Given the description of an element on the screen output the (x, y) to click on. 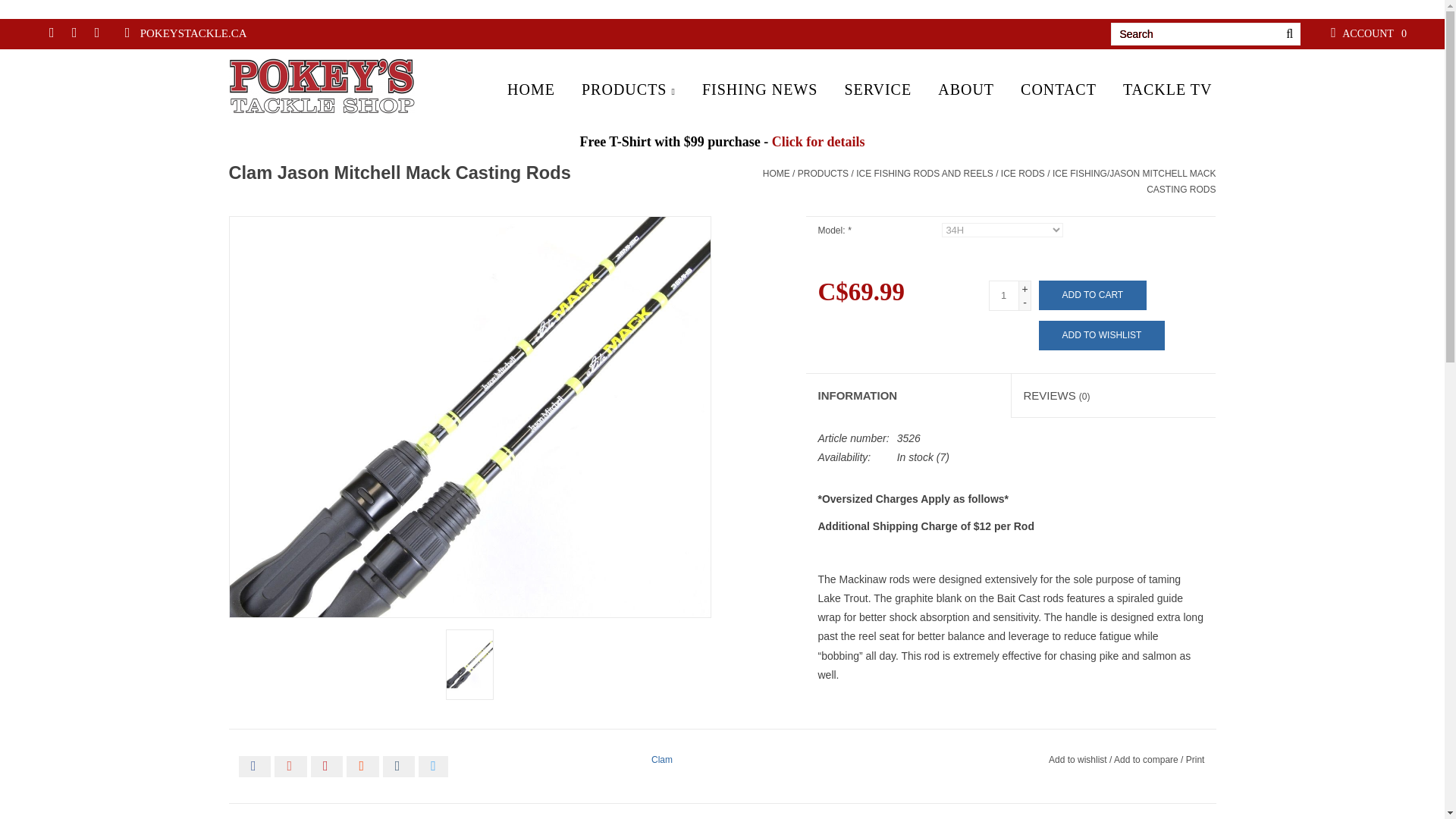
PRODUCTS (628, 87)
My account (1346, 31)
Youtube Pokeys Tackle Shop (127, 32)
ACCOUNT (1346, 31)
Products (628, 87)
1 (1003, 295)
Instagram Pokeys Tackle Shop (101, 32)
Pokeys Tackle Shop (328, 85)
POKEYSTACKLE.CA (193, 33)
